Given the description of an element on the screen output the (x, y) to click on. 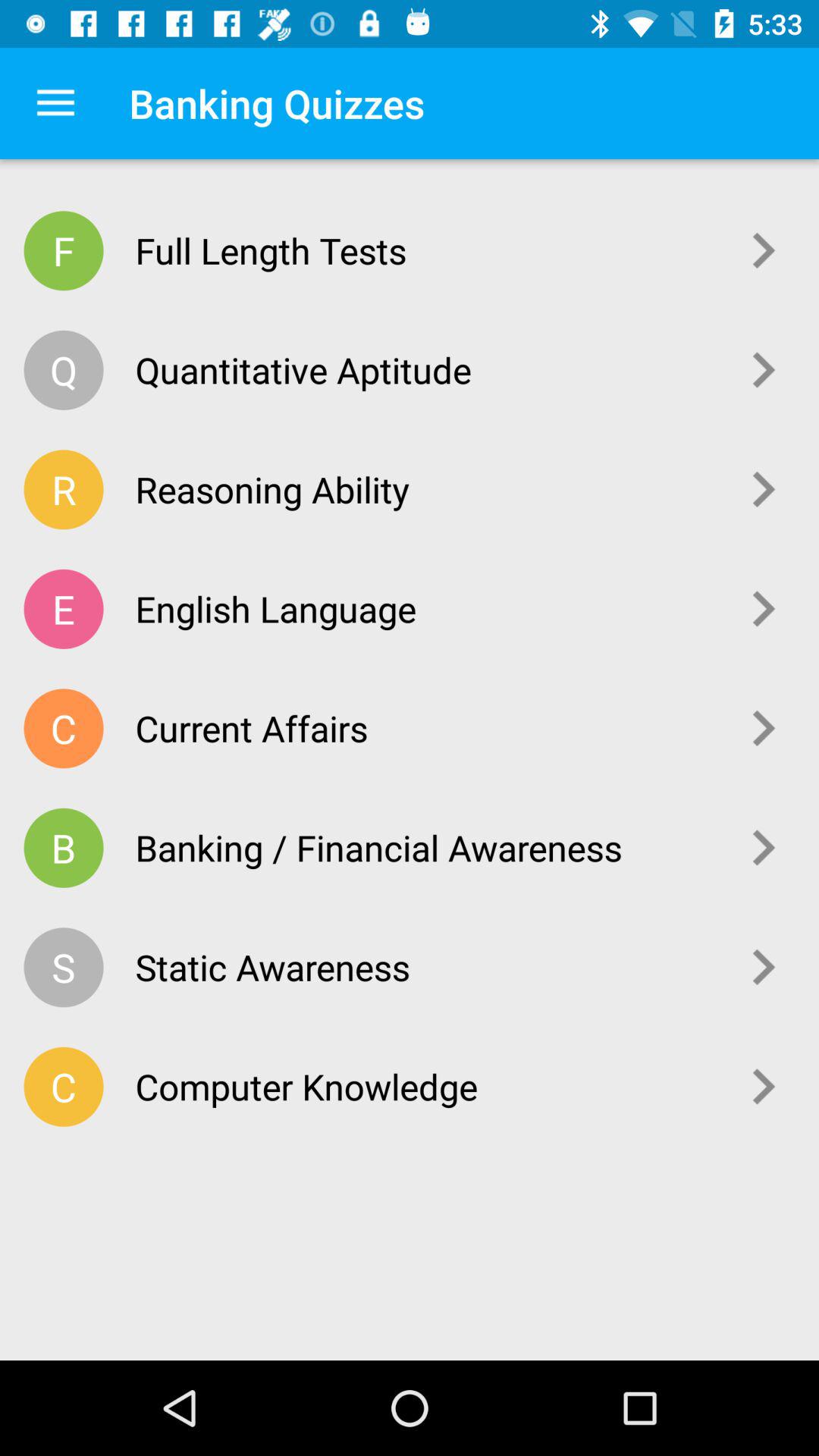
turn on the current affairs item (425, 728)
